Given the description of an element on the screen output the (x, y) to click on. 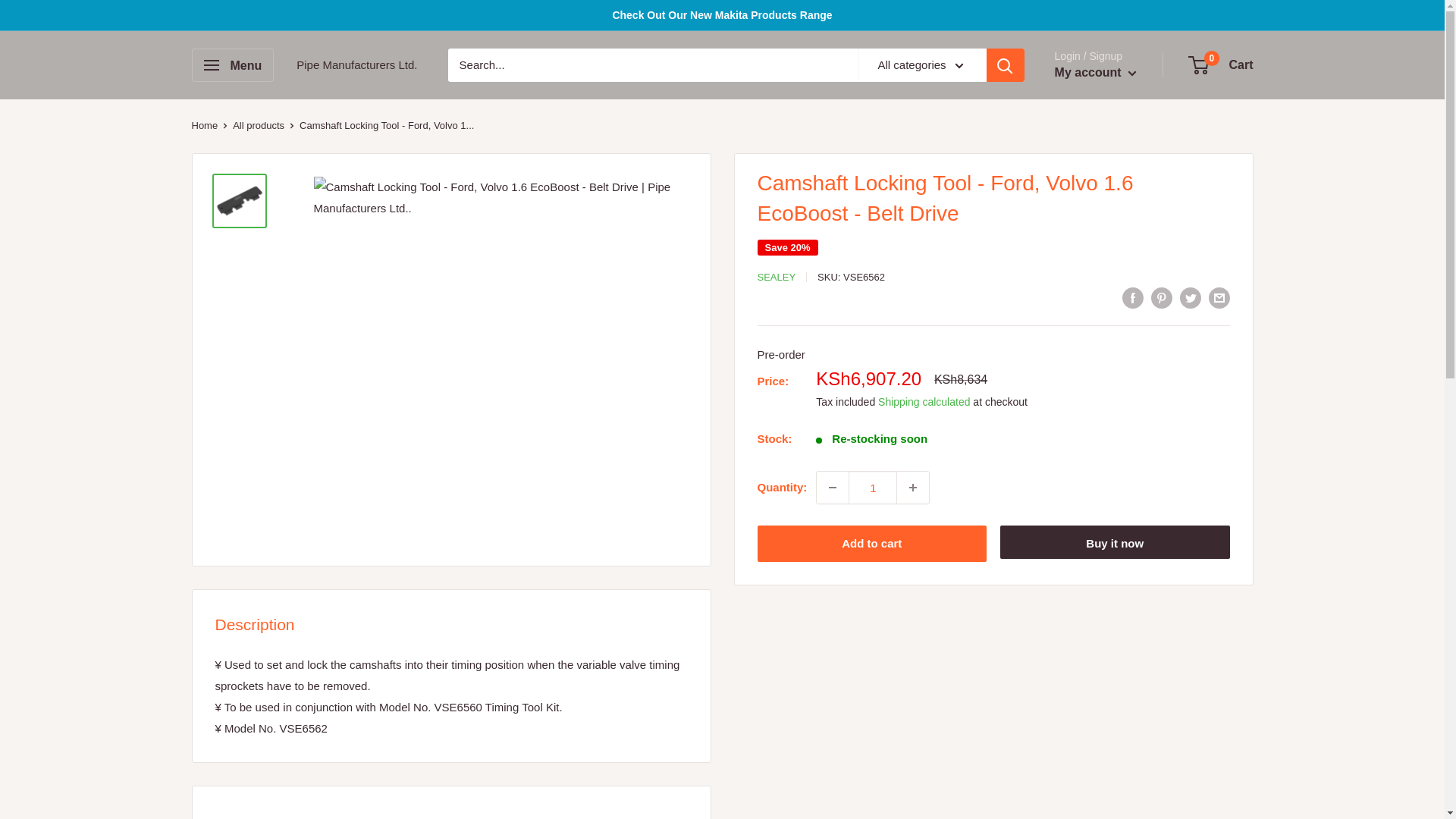
Increase quantity by 1 (912, 487)
Decrease quantity by 1 (832, 487)
1 (872, 487)
Check Out Our New Makita Products Range (721, 15)
